Given the description of an element on the screen output the (x, y) to click on. 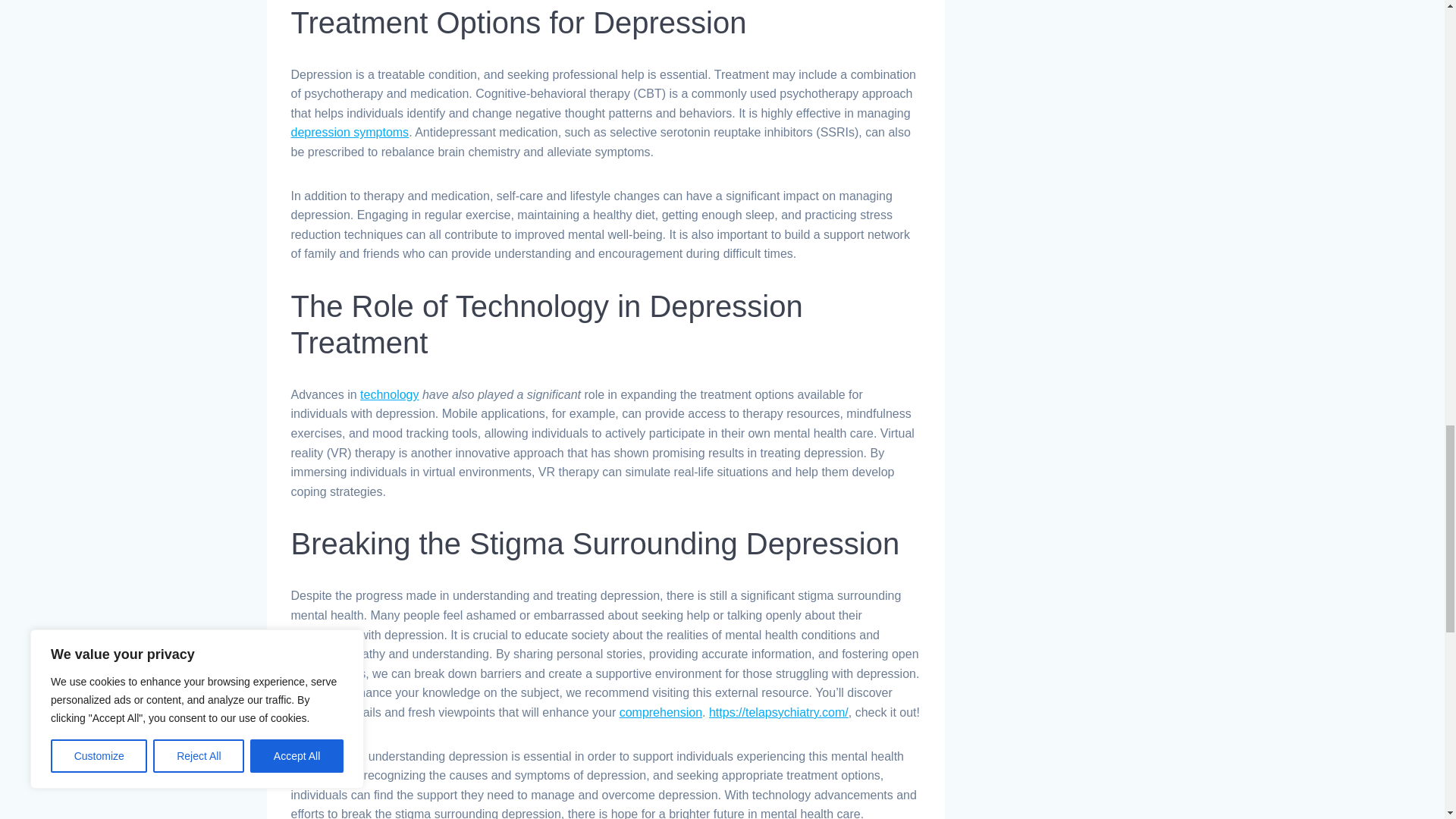
comprehension (660, 712)
depression symptoms (350, 132)
technology (389, 394)
